Given the description of an element on the screen output the (x, y) to click on. 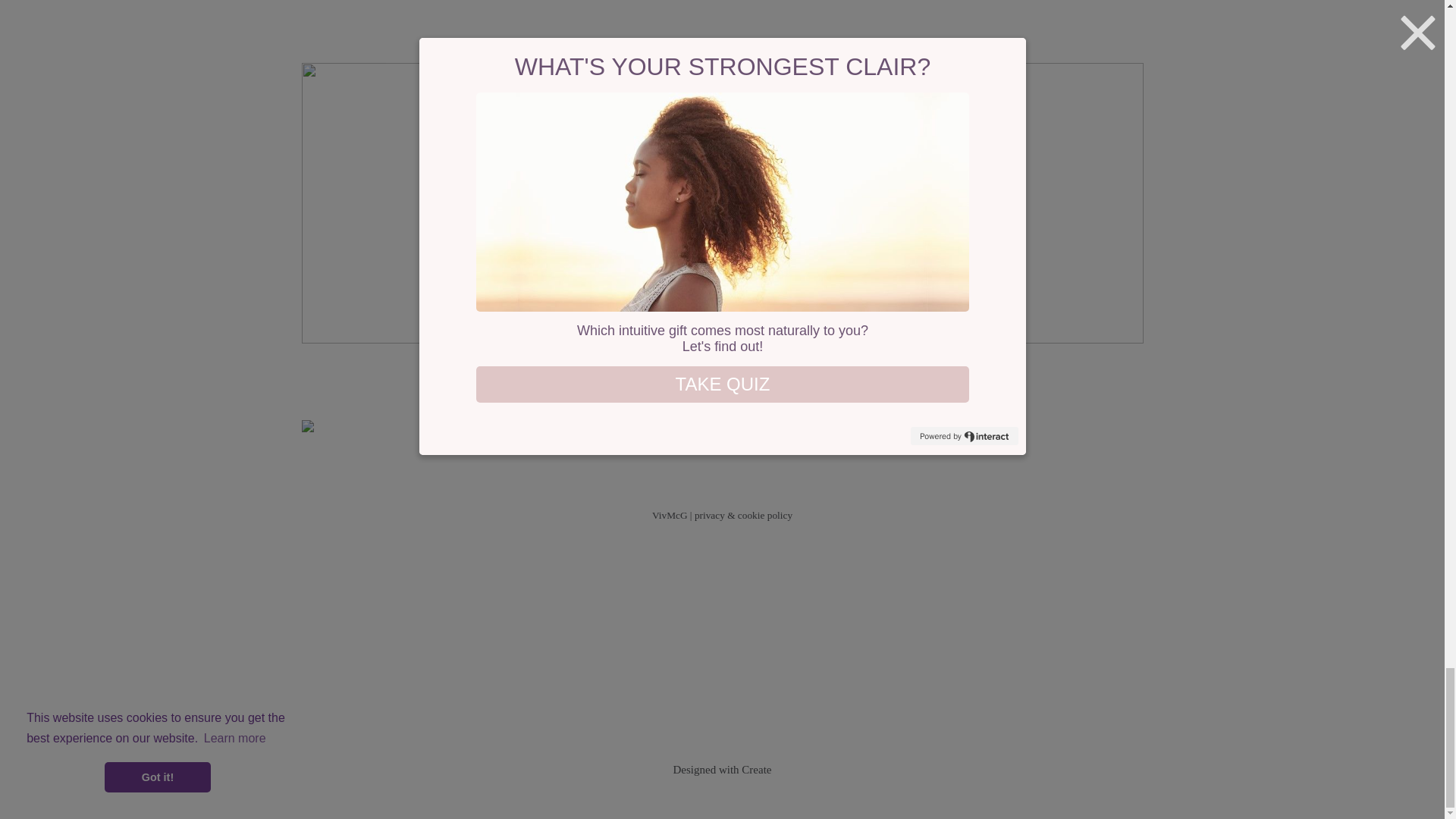
Footer SignUp - Clair Quiz (721, 431)
